Given the description of an element on the screen output the (x, y) to click on. 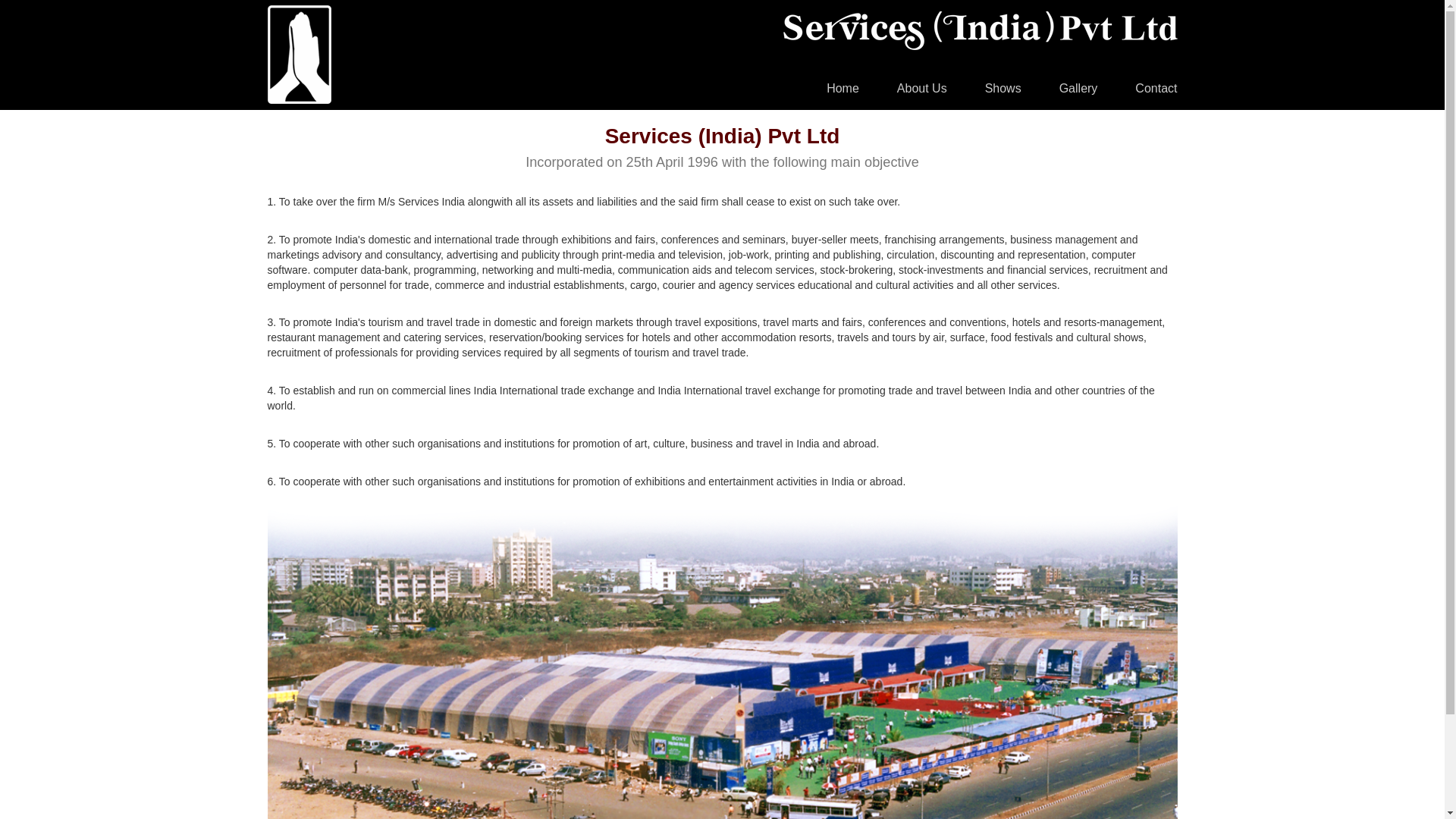
Home (843, 88)
Gallery (1078, 88)
Contact (1155, 88)
Shows (1003, 88)
About Us (921, 88)
